Given the description of an element on the screen output the (x, y) to click on. 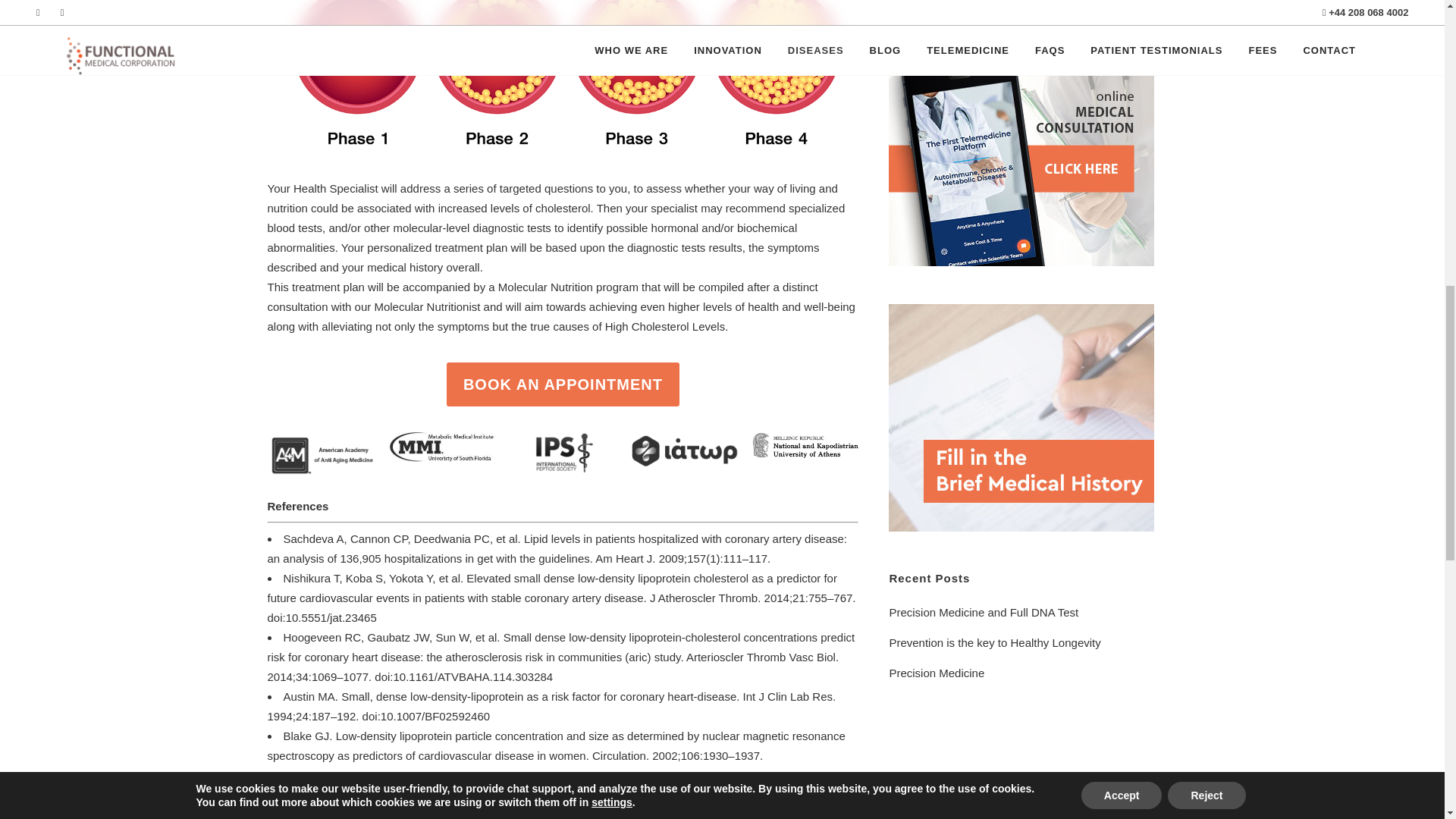
Cholesterol (1021, 417)
